Given the description of an element on the screen output the (x, y) to click on. 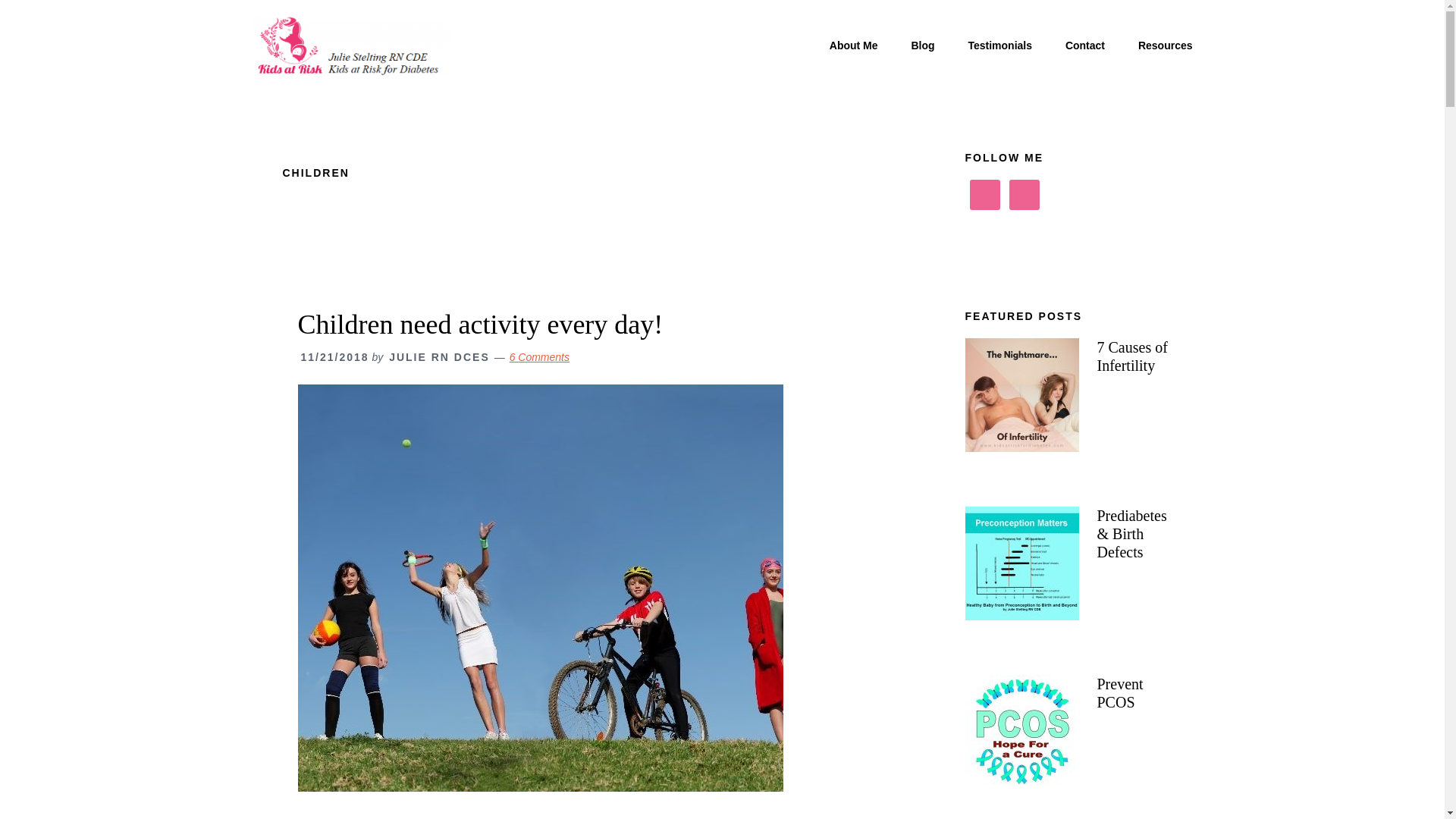
Kids at Risk For Diabetes (349, 45)
Children need activity every day! (479, 324)
Testimonials (999, 45)
About Me (853, 45)
Resources (1165, 45)
Contact (1084, 45)
6 Comments (539, 357)
JULIE RN DCES (438, 357)
